Given the description of an element on the screen output the (x, y) to click on. 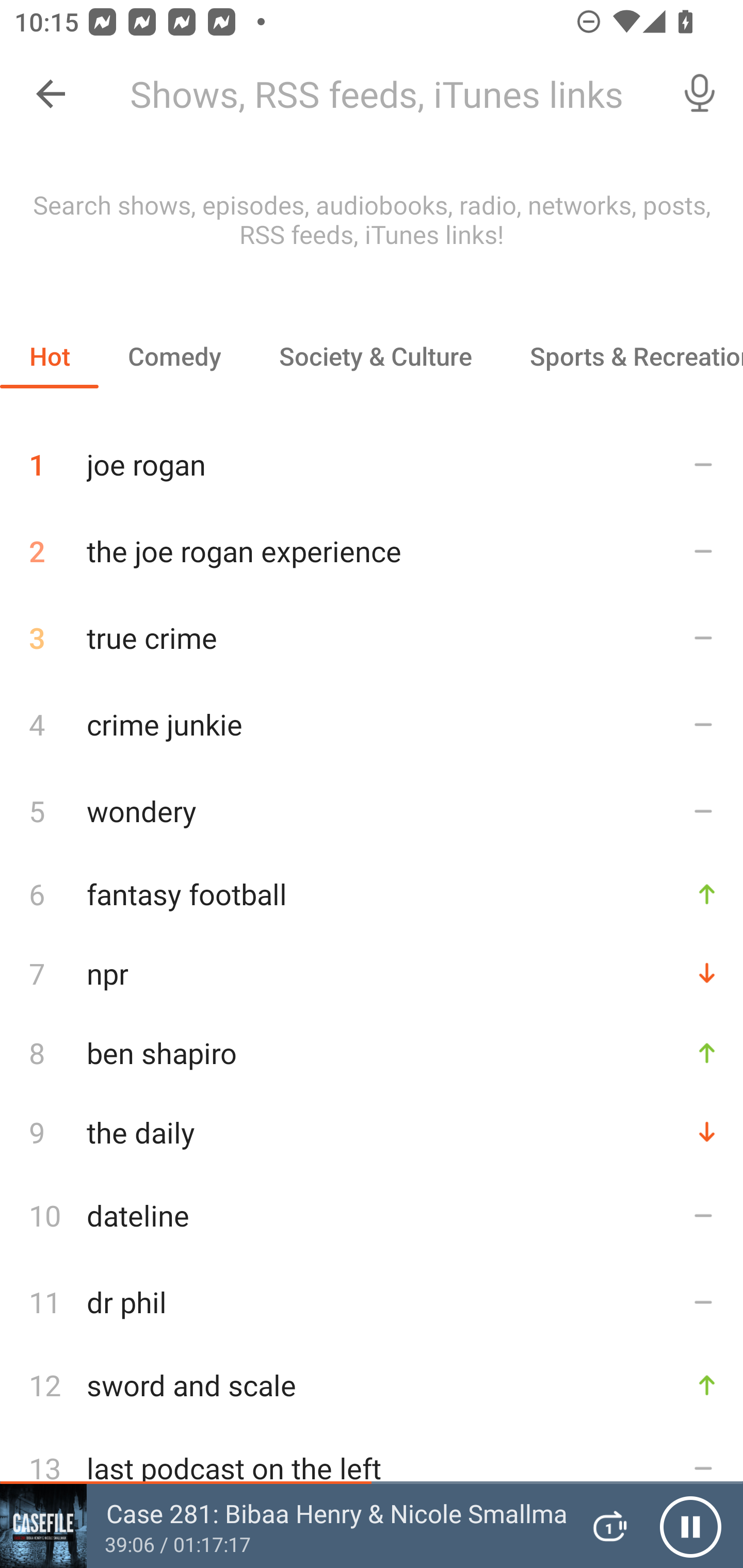
Collapse (50, 93)
Voice Search (699, 93)
Shows, RSS feeds, iTunes links (385, 94)
Hot (49, 355)
Comedy (173, 355)
Society & Culture (374, 355)
Sports & Recreation (621, 355)
1 joe rogan (371, 457)
2 the joe rogan experience (371, 551)
3 true crime (371, 637)
4 crime junkie (371, 723)
5 wondery (371, 810)
6 fantasy football (371, 893)
7 npr (371, 972)
8 ben shapiro (371, 1052)
9 the daily (371, 1131)
10 dateline (371, 1215)
11 dr phil (371, 1302)
12 sword and scale (371, 1385)
13 last podcast on the left (371, 1468)
Pause (690, 1526)
